Given the description of an element on the screen output the (x, y) to click on. 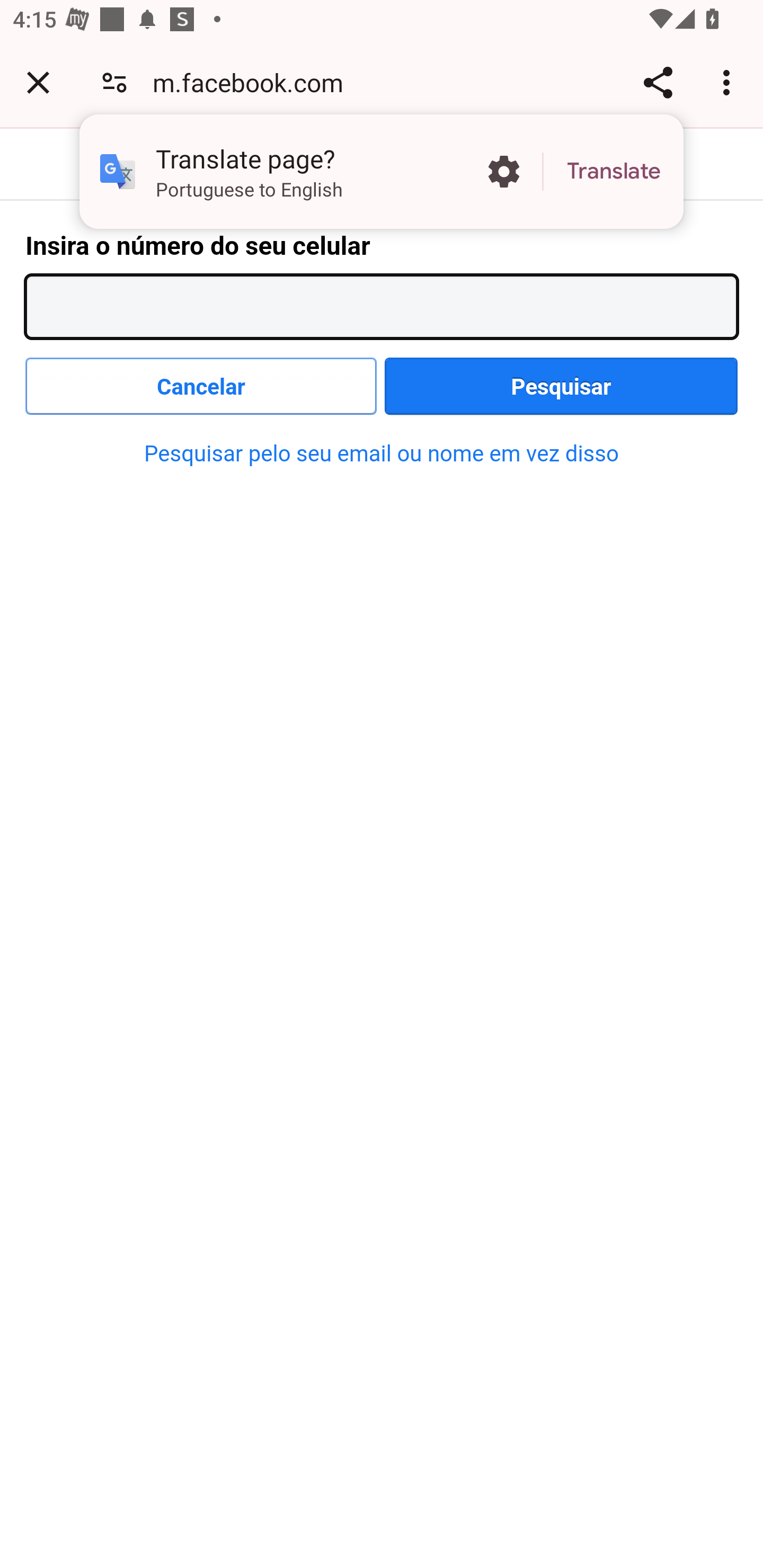
Close tab (38, 82)
Share (657, 82)
Customize and control Google Chrome (729, 82)
Connection is secure (114, 81)
m.facebook.com (254, 81)
Translate (613, 171)
More options in the Translate page? (503, 171)
Cancelar (200, 386)
Pesquisar (560, 386)
Pesquisar pelo seu email ou nome em vez disso (381, 453)
